Given the description of an element on the screen output the (x, y) to click on. 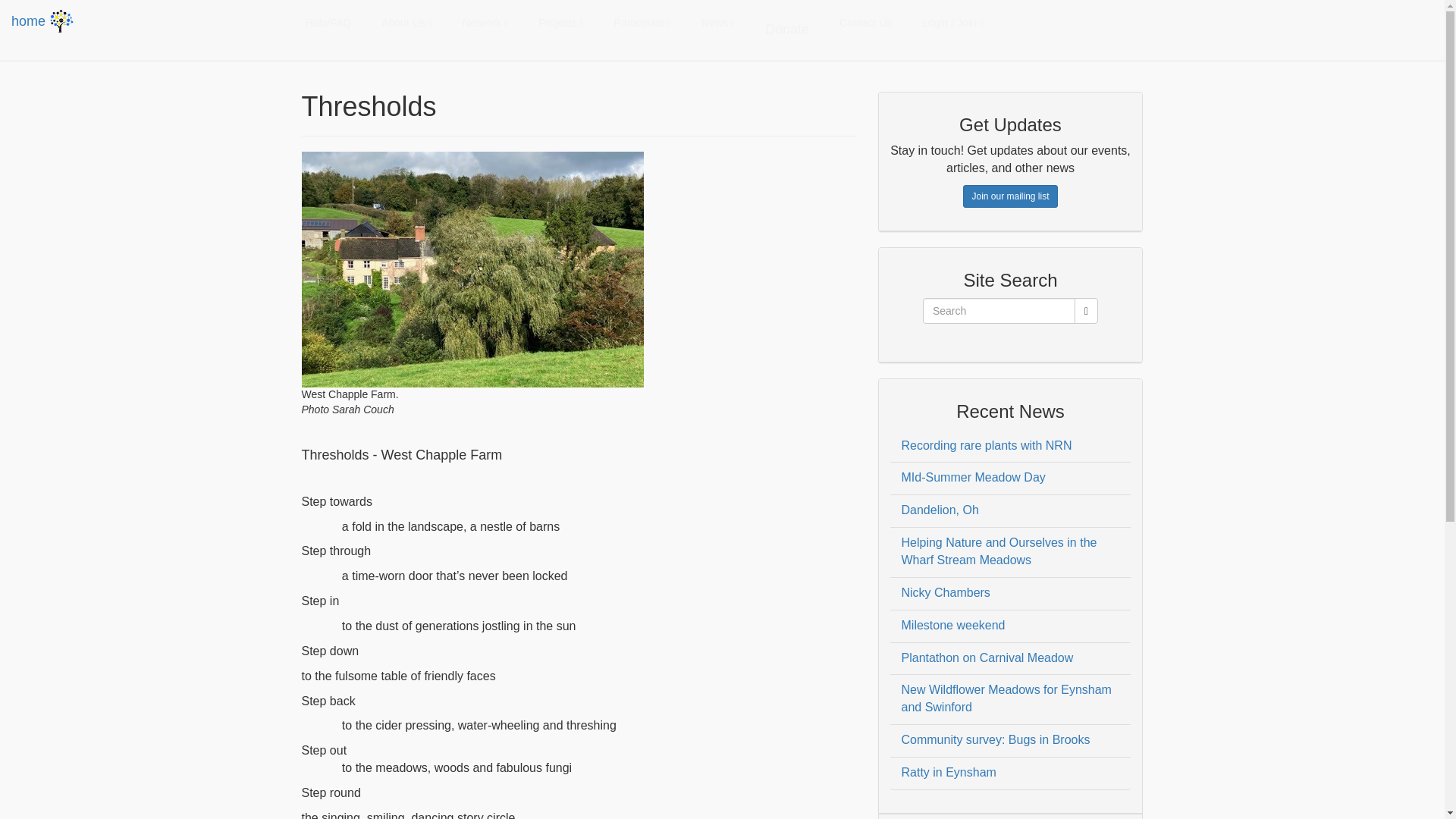
About Us (406, 22)
home (44, 20)
Participate (641, 22)
Join our mailing list (1009, 195)
Join our mailing list (1009, 196)
Donate (786, 30)
Network (484, 22)
Projects (560, 22)
News (717, 22)
Contact Us (865, 22)
